Given the description of an element on the screen output the (x, y) to click on. 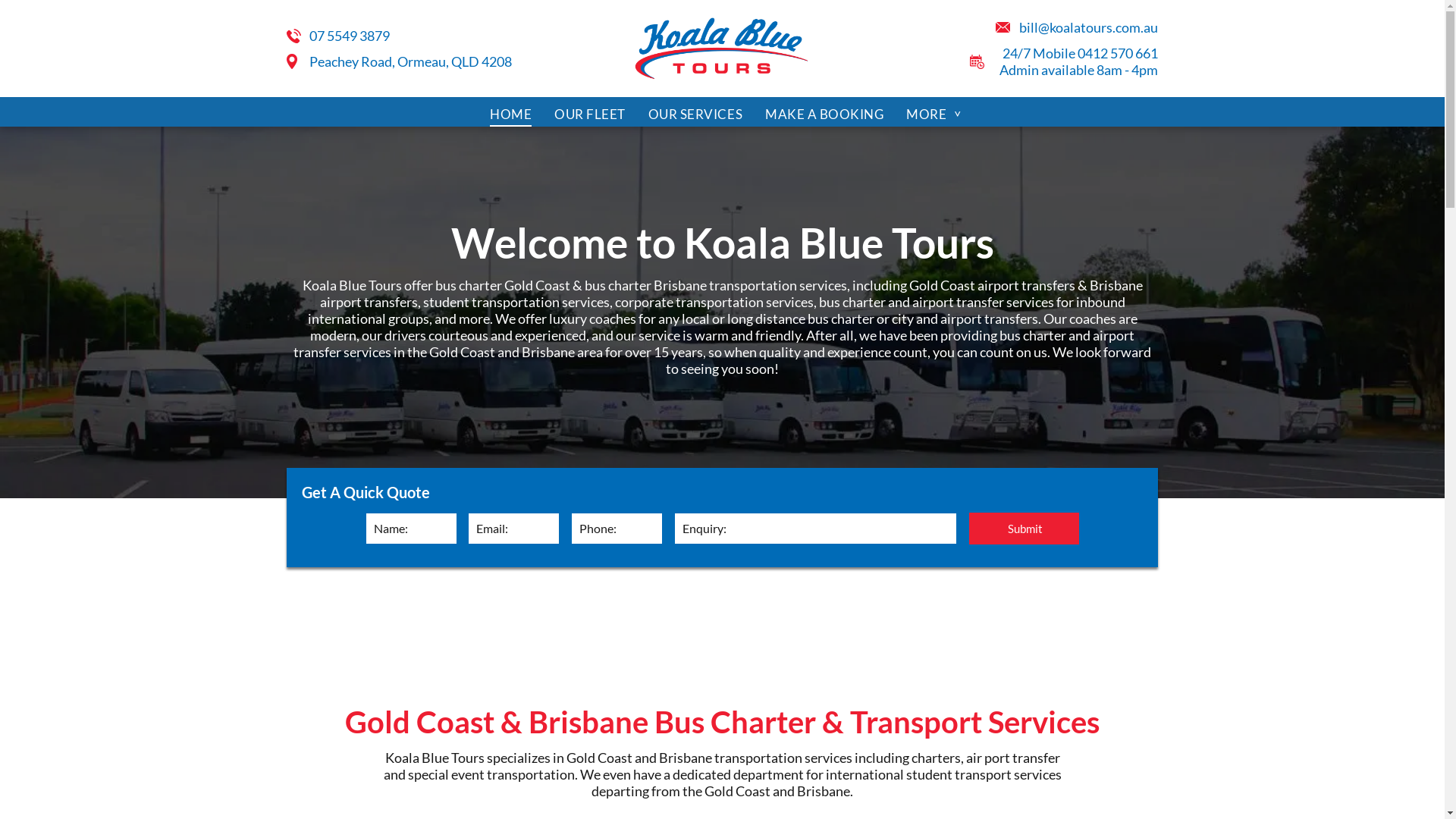
OUR FLEET Element type: text (589, 114)
OUR SERVICES Element type: text (695, 114)
HOME Element type: text (510, 114)
0412 570 661 Element type: text (1117, 52)
07 5549 3879 Element type: text (349, 35)
MAKE A BOOKING Element type: text (823, 114)
Submit Element type: text (1024, 528)
bill@koalatours.com.au Element type: text (1088, 26)
Peachey Road, Ormeau, QLD 4208 Element type: text (410, 61)
MORE Element type: text (933, 114)
